Given the description of an element on the screen output the (x, y) to click on. 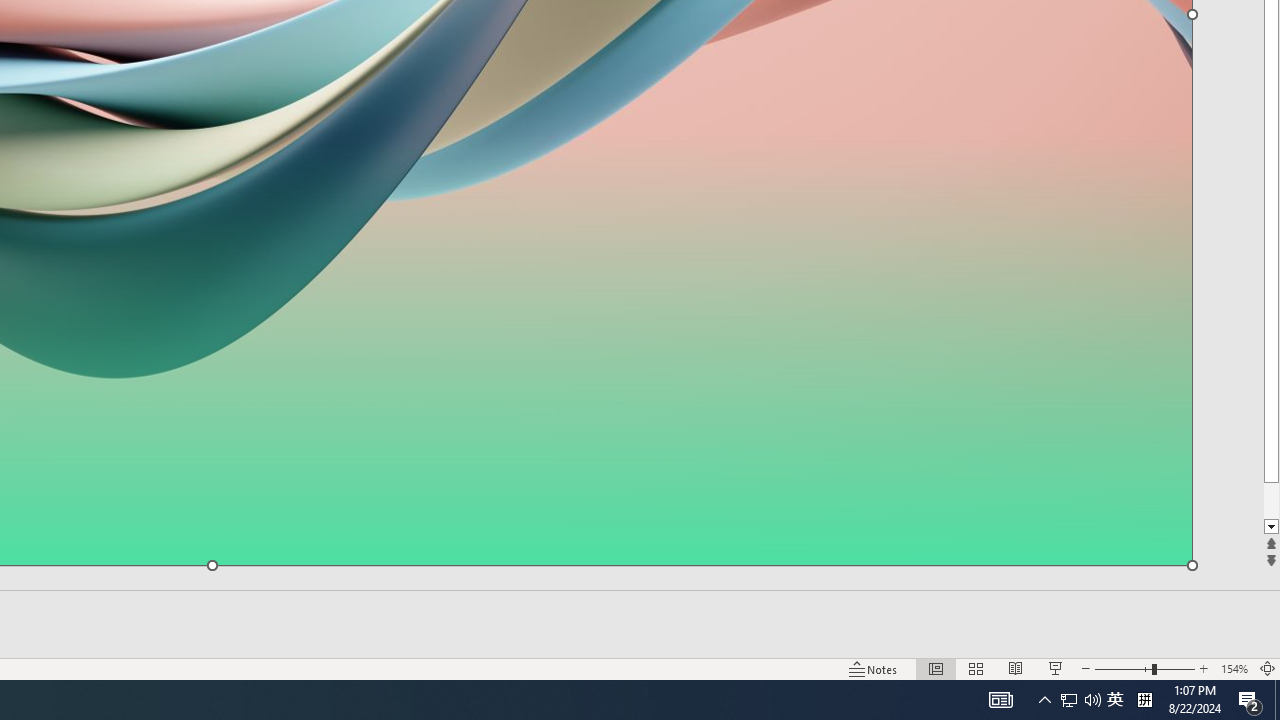
Zoom 154% (1234, 668)
